Given the description of an element on the screen output the (x, y) to click on. 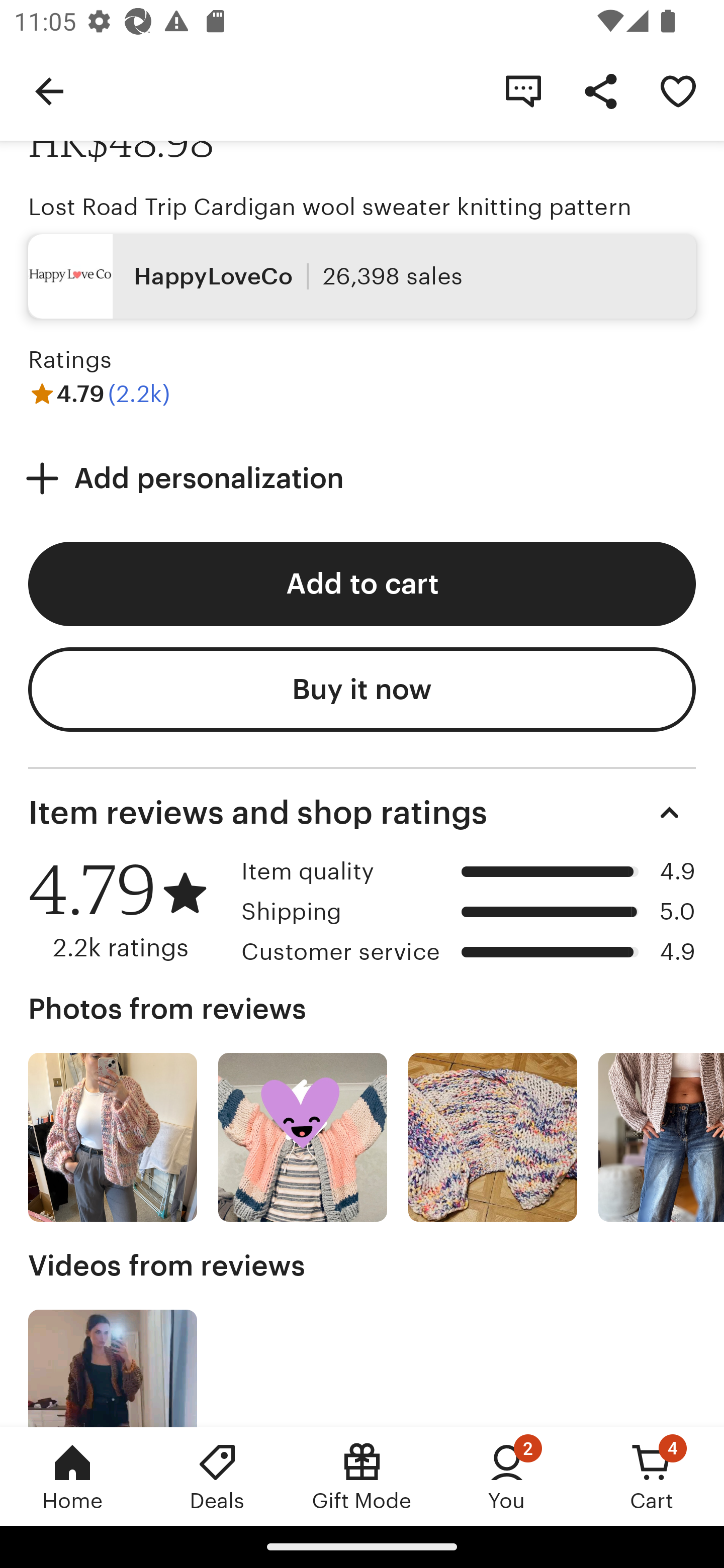
Navigate up (49, 90)
Contact shop (523, 90)
Share (600, 90)
HappyLoveCo 26,398 sales (361, 275)
Ratings (70, 359)
4.79 (2.2k) (99, 393)
Add personalization Add personalization Required (362, 477)
Add to cart (361, 583)
Buy it now (361, 689)
Item reviews and shop ratings (362, 811)
4.79 2.2k ratings (127, 909)
Photo from review (112, 1136)
Photo from review (302, 1136)
Photo from review (492, 1136)
Photo from review (661, 1136)
Deals (216, 1475)
Gift Mode (361, 1475)
You, 2 new notifications You (506, 1475)
Cart, 4 new notifications Cart (651, 1475)
